Given the description of an element on the screen output the (x, y) to click on. 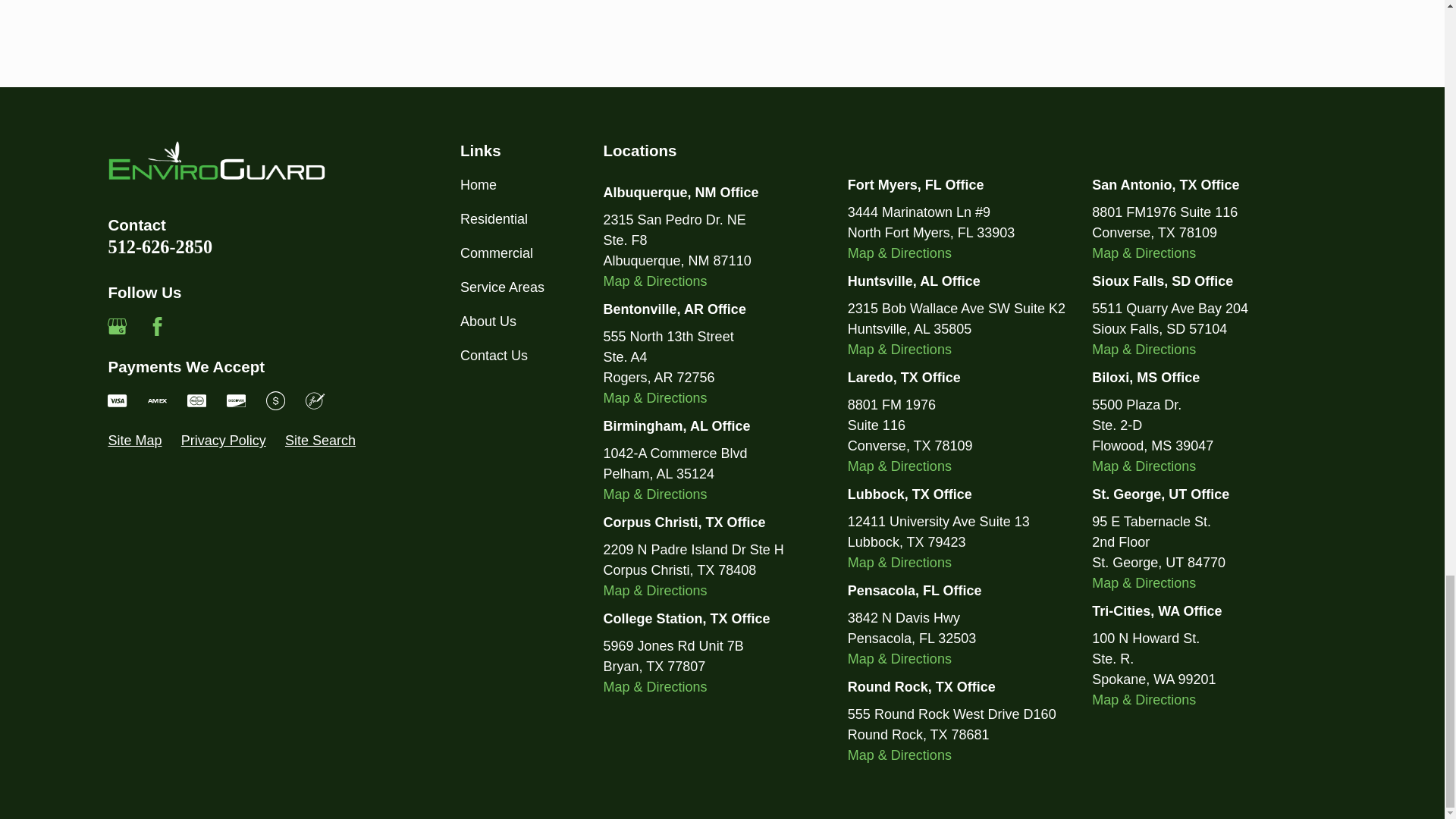
MasterCard (196, 400)
Visa (116, 400)
Cash (275, 400)
Home (216, 160)
Discover (236, 400)
Facebook (157, 325)
AMEX (157, 400)
Google Business Profile (116, 325)
